Given the description of an element on the screen output the (x, y) to click on. 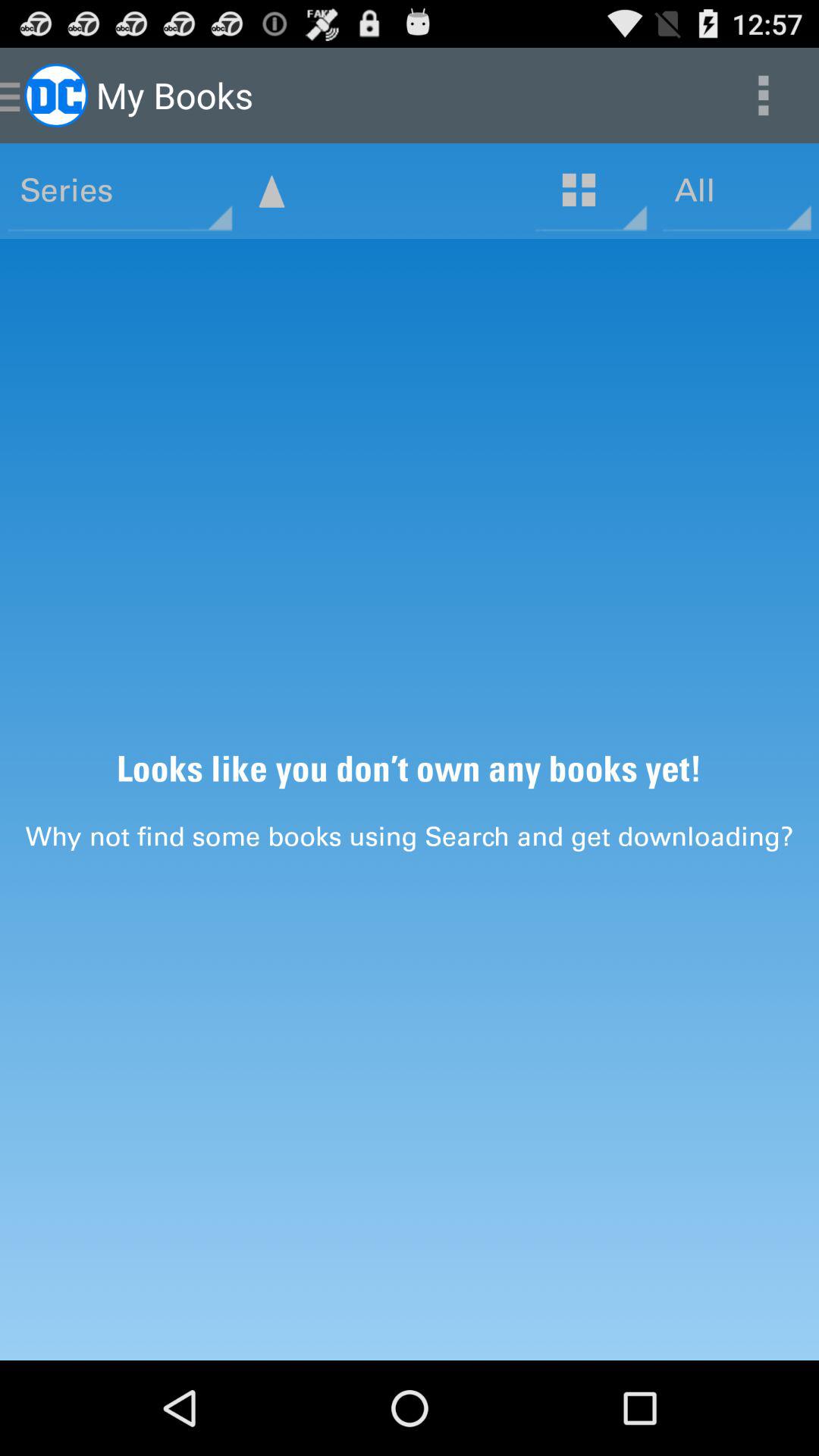
open icon above the looks like you (271, 190)
